Given the description of an element on the screen output the (x, y) to click on. 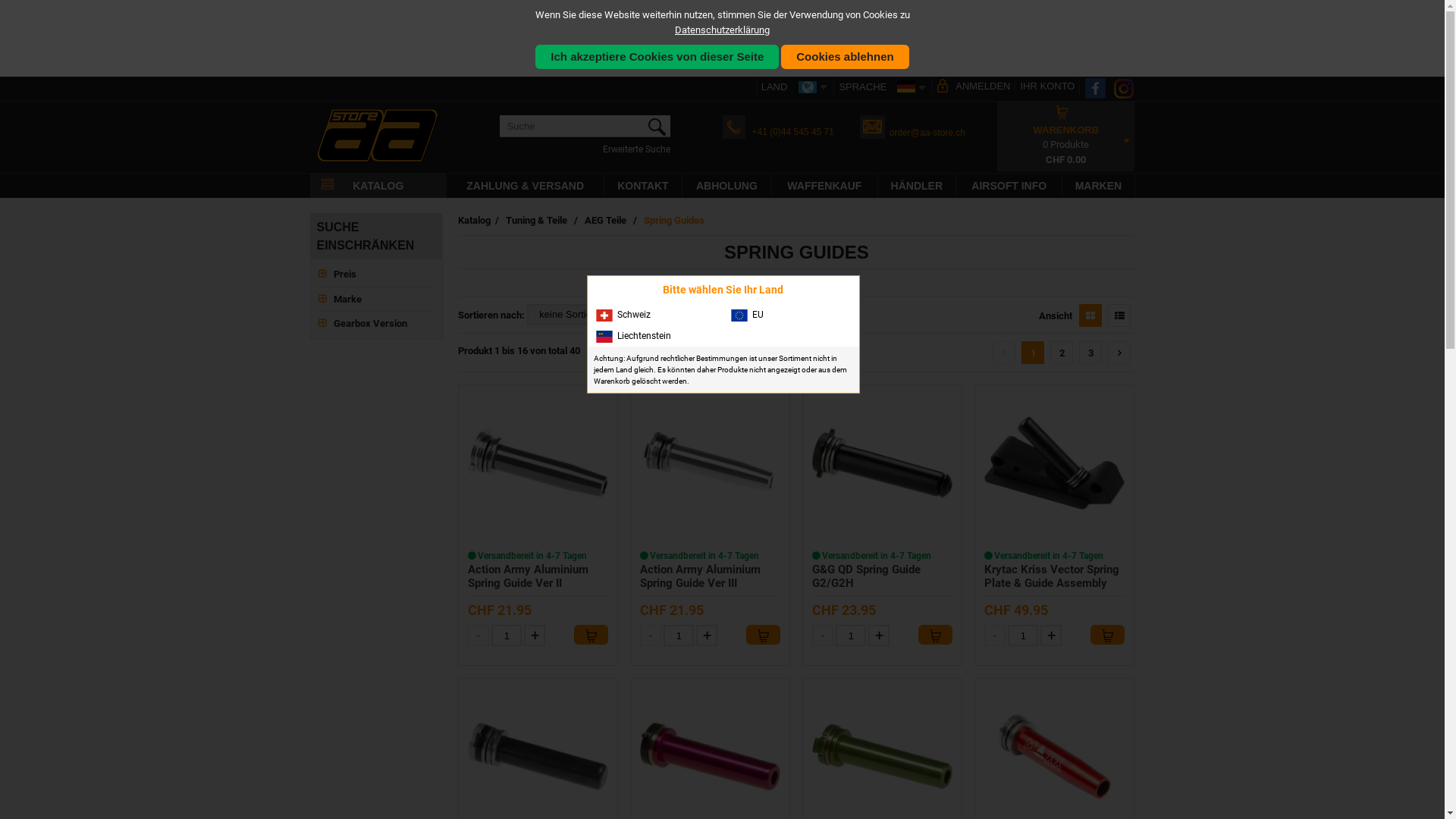
IHR KONTO Element type: text (1046, 86)
Schweiz Element type: text (652, 314)
order@aa-store.ch Element type: text (927, 132)
Liechtenstein Element type: text (652, 335)
In den Warenkorb Element type: hover (763, 634)
2 Element type: text (1061, 352)
WAFFENKAUF Element type: text (823, 185)
In den Warenkorb Element type: hover (935, 634)
G&G QD Spring Guide G2/G2H Element type: hover (882, 462)
Action Army Aluminium Spring Guide Ver II Element type: hover (537, 462)
ABHOLUNG Element type: text (726, 185)
MARKEN Element type: text (1097, 185)
KATALOG Element type: text (377, 185)
Erweiterte Suche Element type: text (636, 149)
EU Element type: text (788, 314)
3 Element type: text (1090, 352)
Action Army Aluminium Spring Guide Ver II Element type: text (527, 575)
ANMELDEN Element type: text (972, 86)
Krytac Kriss Vector Spring Plate & Guide Assembly Element type: text (1051, 575)
AIRSOFT INFO Element type: text (1008, 185)
ZAHLUNG & VERSAND Element type: text (524, 185)
AEG Teile Element type: text (605, 219)
Deutsch Element type: hover (906, 86)
G&G QD Spring Guide G2/G2H Element type: text (866, 575)
Krytac Kriss Vector Spring Plate & Guide Assembly Element type: hover (1054, 462)
Tuning & Teile Element type: text (536, 219)
In den Warenkorb Element type: hover (1107, 634)
+41 (0)44 545 45 71 Element type: text (793, 131)
Action Army Aluminium Spring Guide Ver III Element type: text (700, 575)
In den Warenkorb Element type: hover (591, 634)
Action Army Aluminium Spring Guide Ver III Element type: hover (710, 462)
KONTAKT Element type: text (642, 185)
WARENKORB
0 Produkte
CHF 0.00 Element type: text (1065, 136)
